Given the description of an element on the screen output the (x, y) to click on. 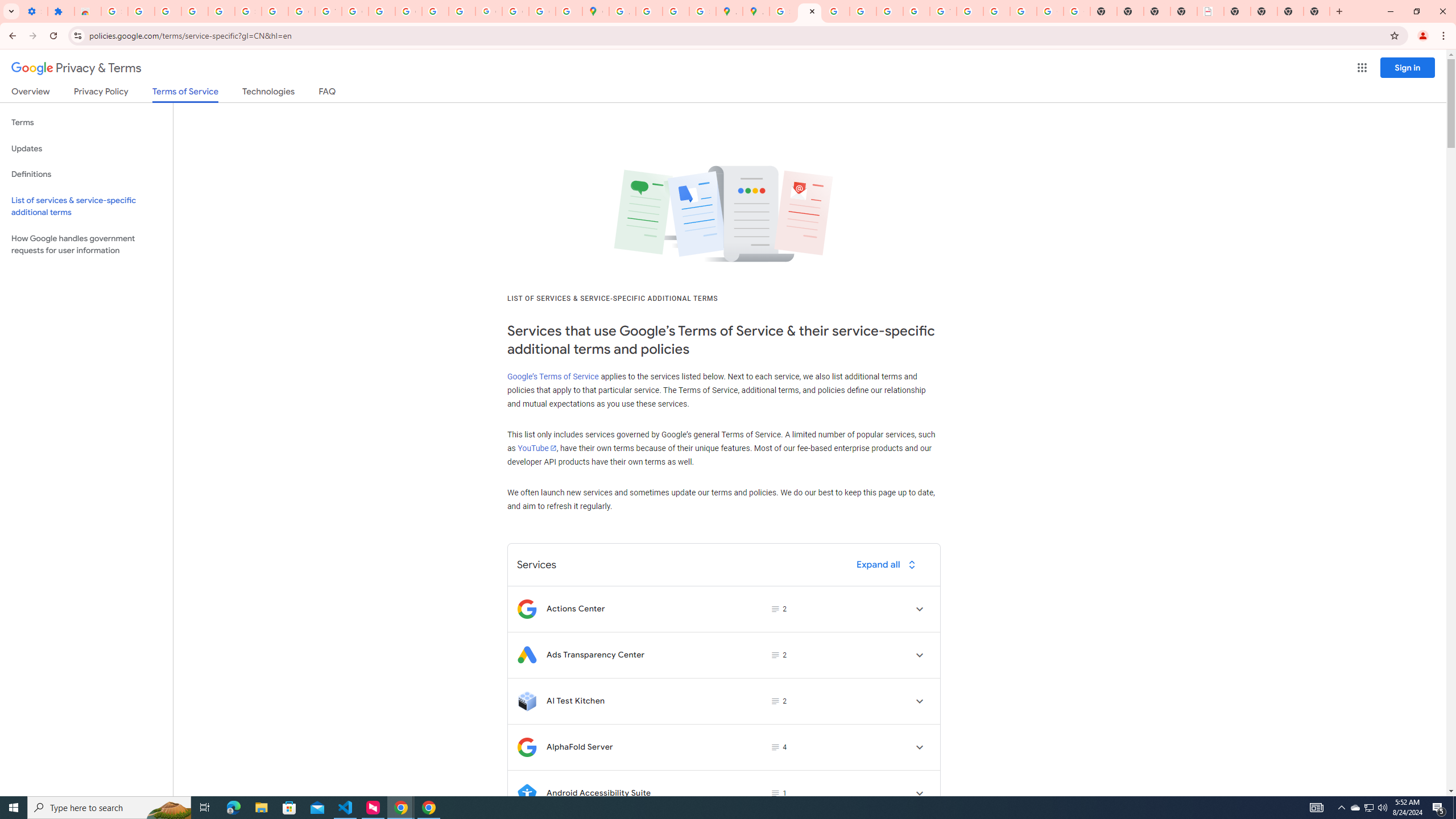
Safety in Our Products - Google Safety Center (702, 11)
Google Maps (595, 11)
